Given the description of an element on the screen output the (x, y) to click on. 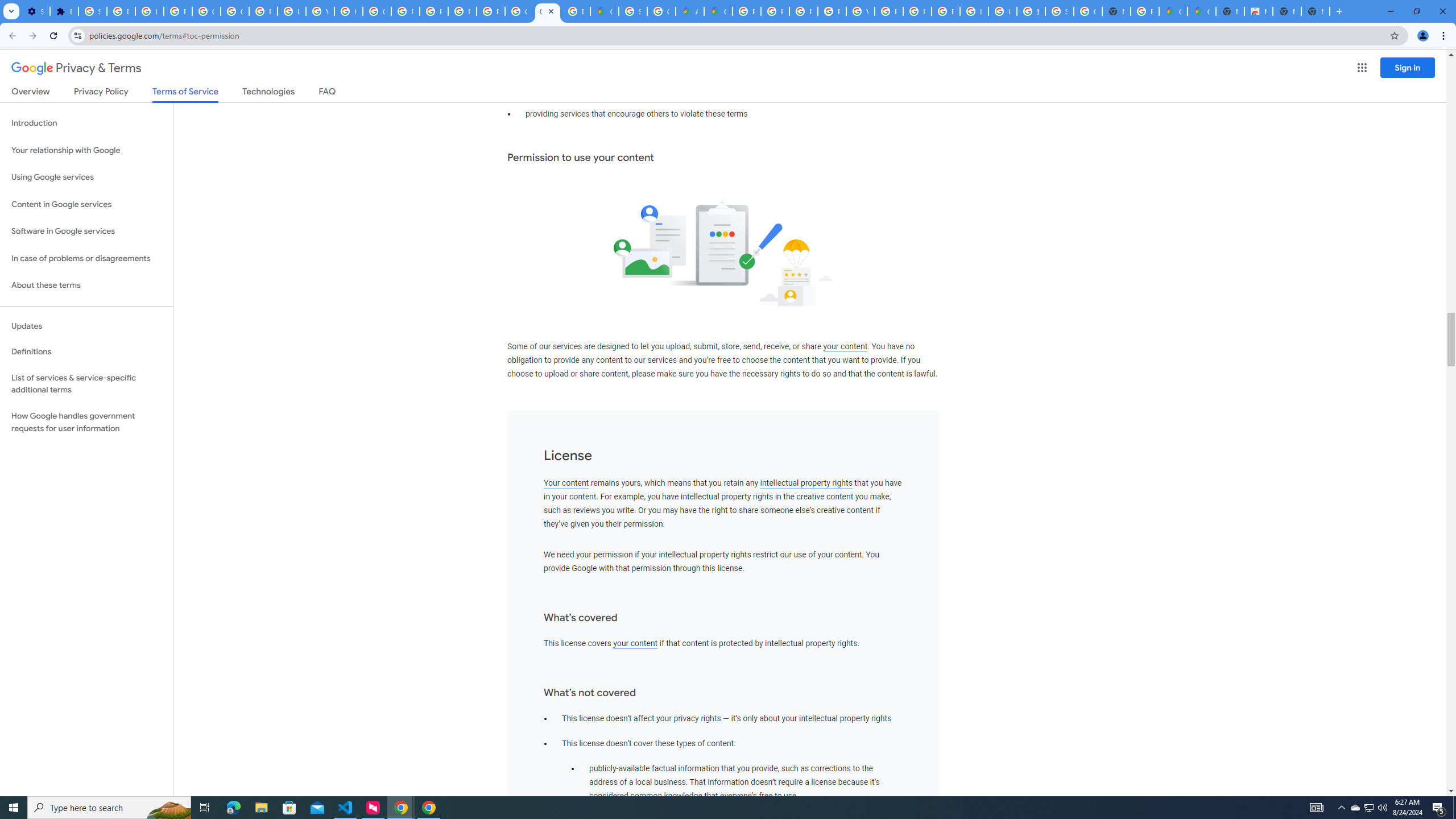
Overview (30, 93)
Privacy Help Center - Policies Help (405, 11)
New Tab (1315, 11)
Search tabs (10, 11)
Create your Google Account (661, 11)
Settings - On startup (35, 11)
Forward (32, 35)
Your content (566, 482)
Restore (1416, 11)
FAQ (327, 93)
View site information (77, 35)
Close (551, 11)
